Given the description of an element on the screen output the (x, y) to click on. 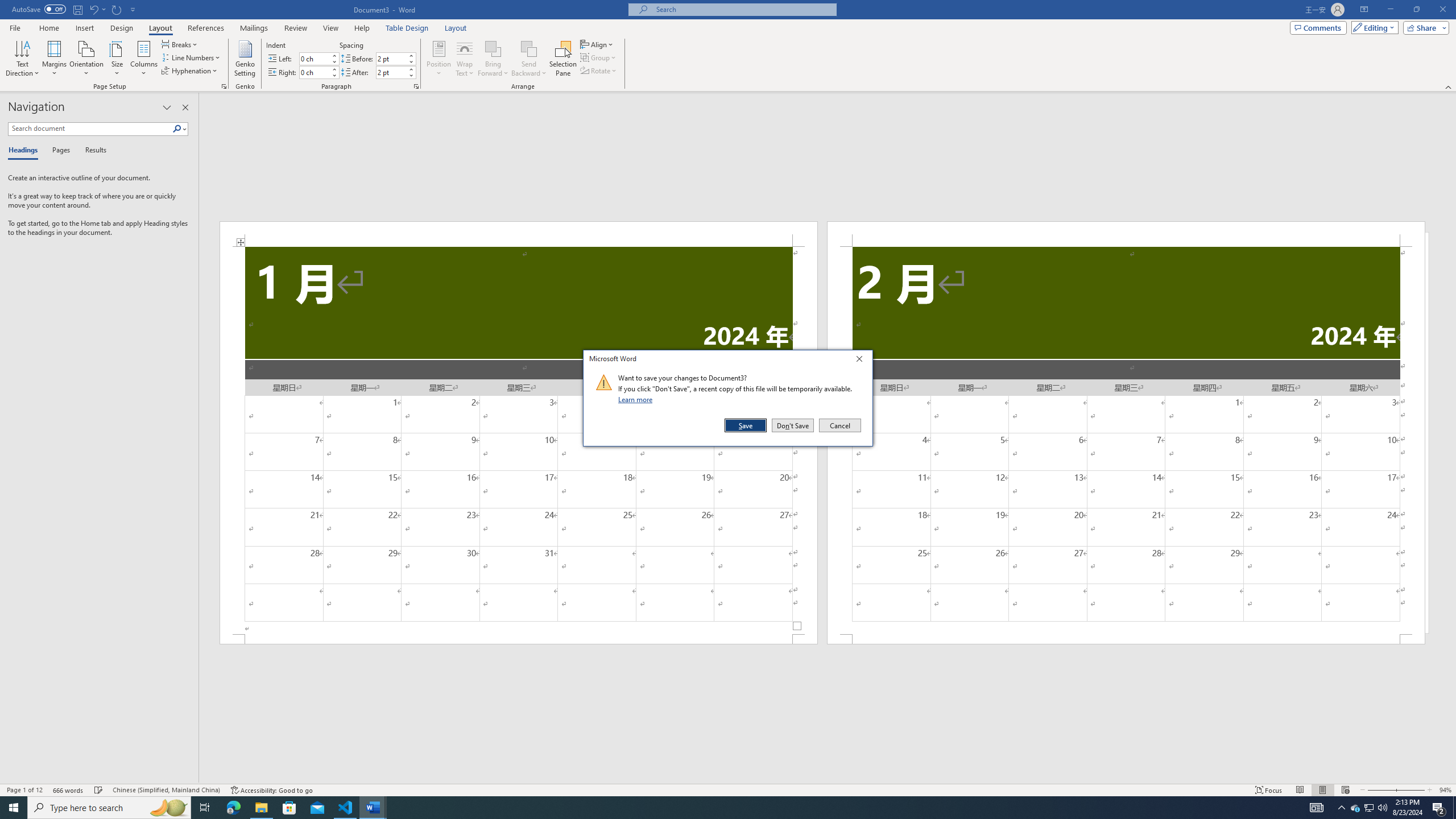
Word Count 666 words (68, 790)
Headings (25, 150)
Focus  (1268, 790)
File Tab (15, 27)
Footer -Section 1- (518, 638)
Share (1423, 27)
Learn more (636, 399)
Don't Save (792, 425)
Paragraph... (416, 85)
Zoom Out (1380, 790)
Bring Forward (492, 58)
Language Chinese (Simplified, Mainland China) (165, 790)
Orientation (86, 58)
